Given the description of an element on the screen output the (x, y) to click on. 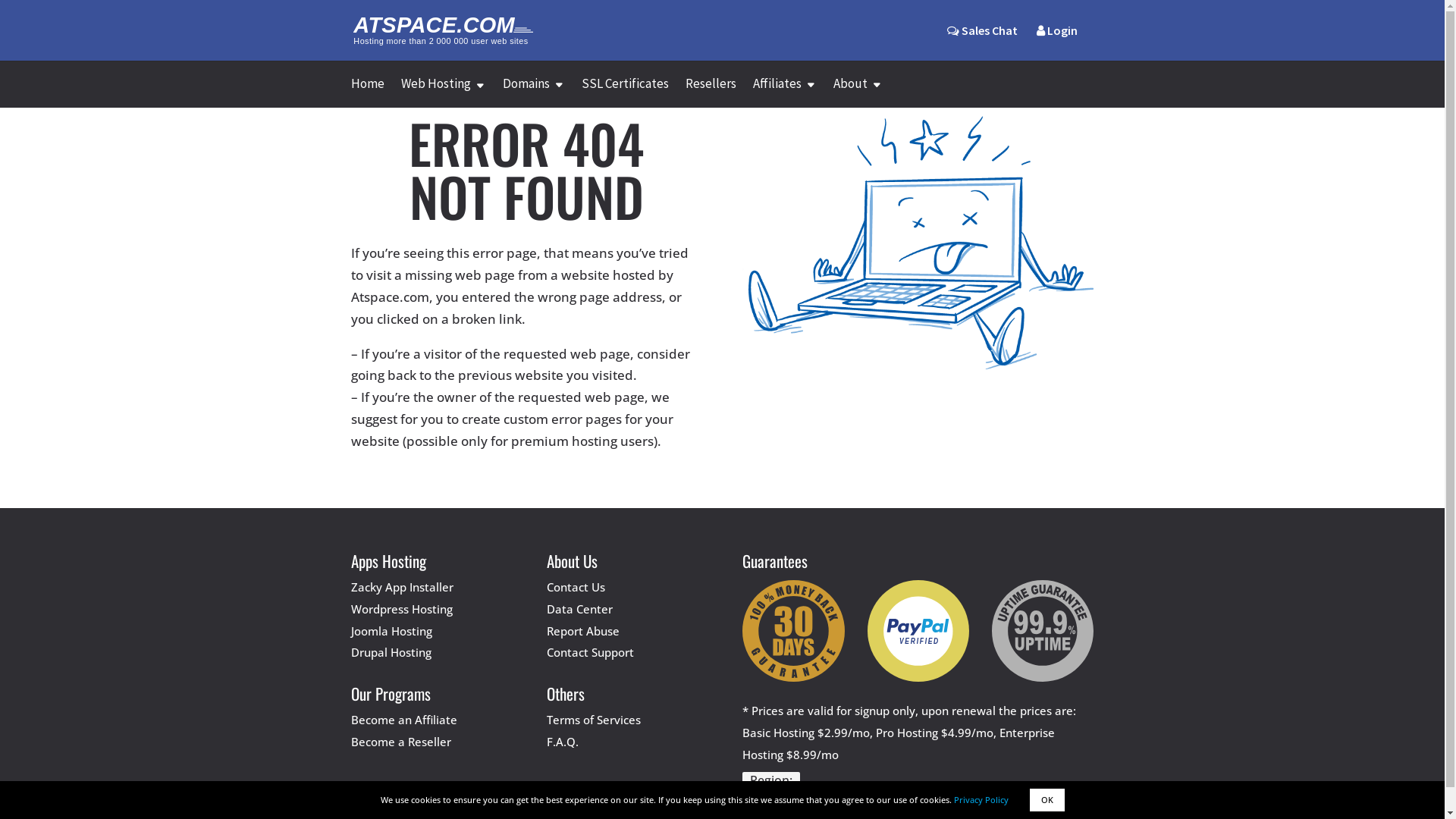
Become an Affiliate Element type: text (403, 719)
Sales Chat Element type: text (981, 29)
Affiliates Element type: text (783, 92)
Privacy Policy Element type: text (980, 799)
Home Element type: text (366, 92)
Resellers Element type: text (710, 92)
Contact Support Element type: text (589, 651)
Drupal Hosting Element type: text (390, 651)
Joomla Hosting Element type: text (390, 630)
Wordpress Hosting Element type: text (400, 608)
Web Hosting Element type: text (442, 92)
Become a Reseller Element type: text (400, 741)
Domains Element type: text (533, 92)
Contact Us Element type: text (575, 586)
About Element type: text (856, 92)
Zacky App Installer Element type: text (401, 586)
SSL Certificates Element type: text (624, 92)
Terms of Services Element type: text (593, 719)
F.A.Q. Element type: text (562, 741)
Login Element type: text (1055, 42)
Data Center Element type: text (579, 608)
Sales Chat Element type: text (981, 42)
OK Element type: text (1046, 799)
Report Abuse Element type: text (582, 630)
